Given the description of an element on the screen output the (x, y) to click on. 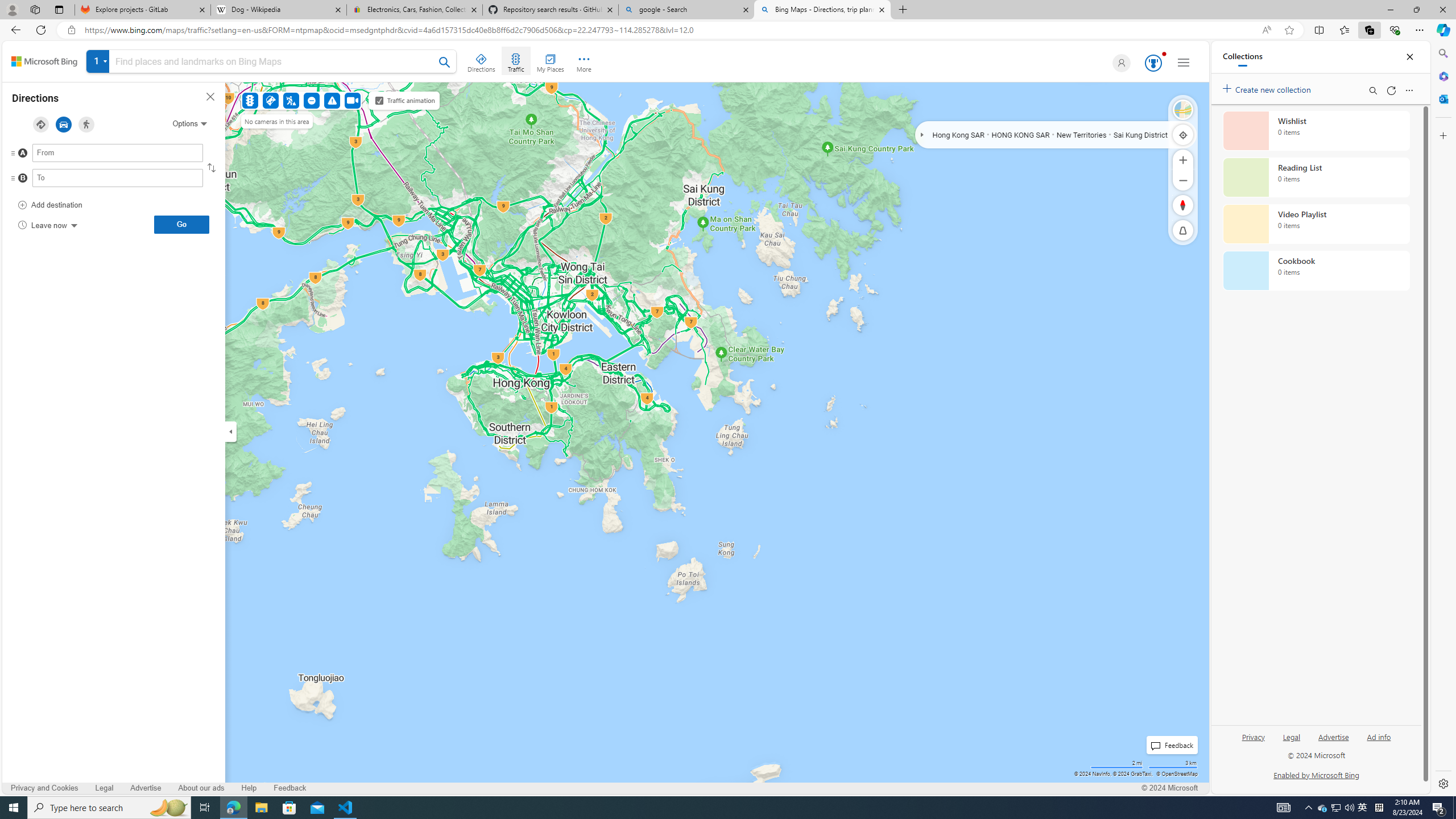
Zoom In (1182, 159)
Directions (481, 60)
Go (180, 224)
Feedback (289, 787)
Side bar (1443, 418)
Collections (1242, 56)
Privacy (1253, 736)
Settings and quick links (1183, 62)
Microsoft 365 (1442, 76)
Reading List collection, 0 items (1316, 177)
Select Style (1182, 109)
Electronics, Cars, Fashion, Collectibles & More | eBay (414, 9)
Settings (1442, 783)
Advertise (1333, 741)
Customize (1442, 135)
